Given the description of an element on the screen output the (x, y) to click on. 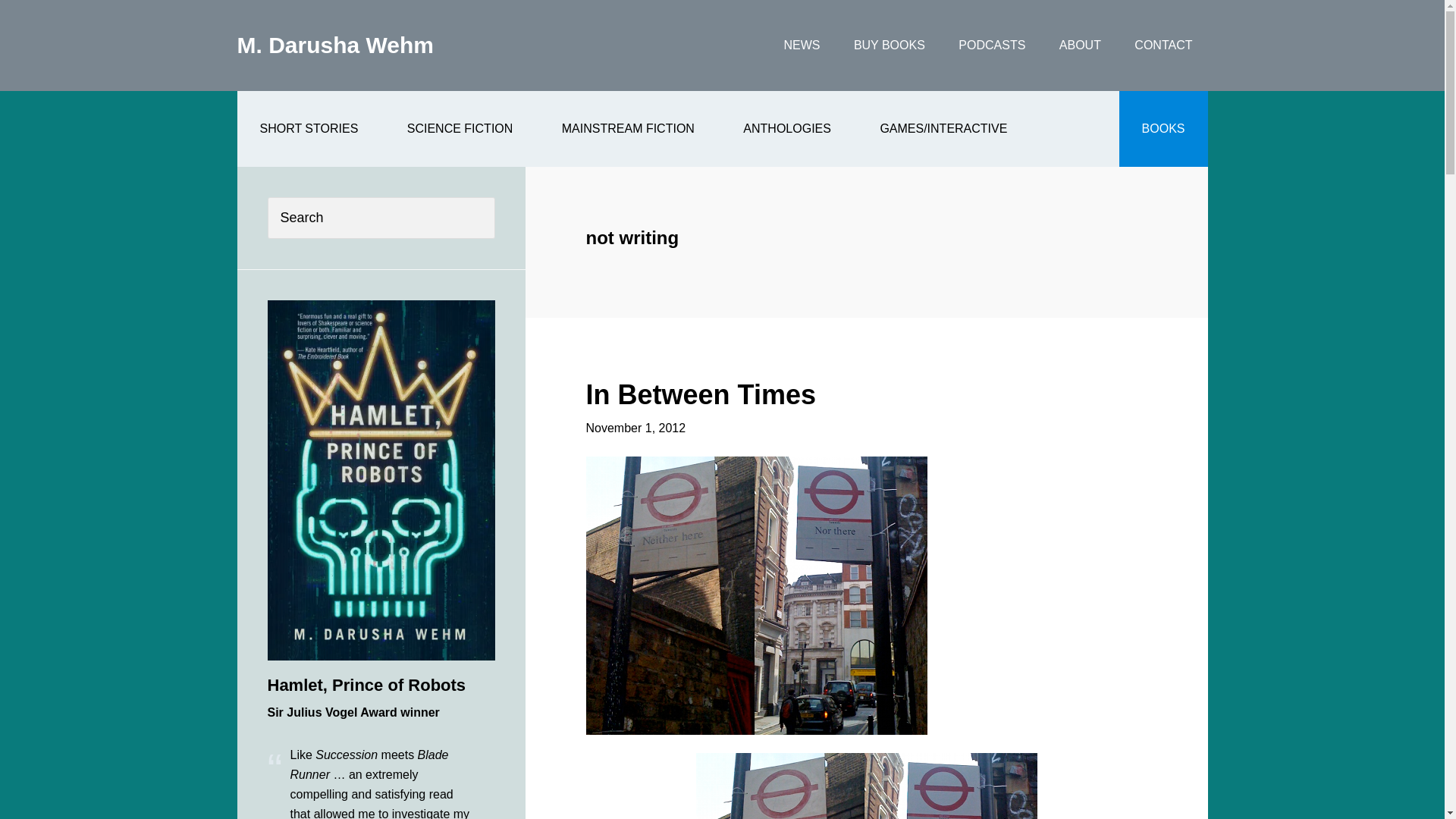
SCIENCE FICTION (459, 128)
CONTACT (1163, 45)
nhnt2 (865, 785)
M. Darusha Wehm (334, 44)
SHORT STORIES (307, 128)
BUY BOOKS (889, 45)
PODCASTS (992, 45)
